Given the description of an element on the screen output the (x, y) to click on. 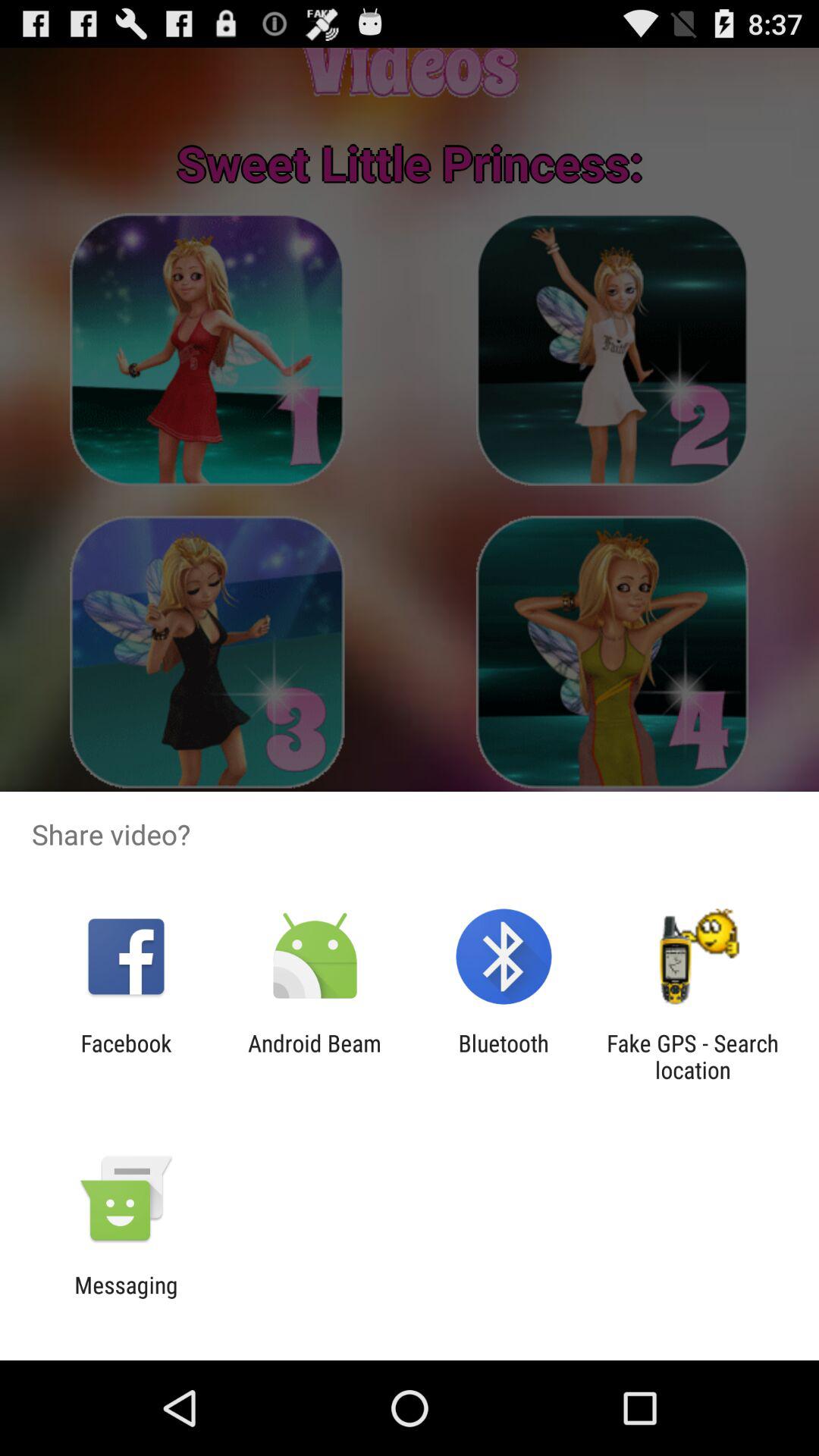
jump until bluetooth (503, 1056)
